Given the description of an element on the screen output the (x, y) to click on. 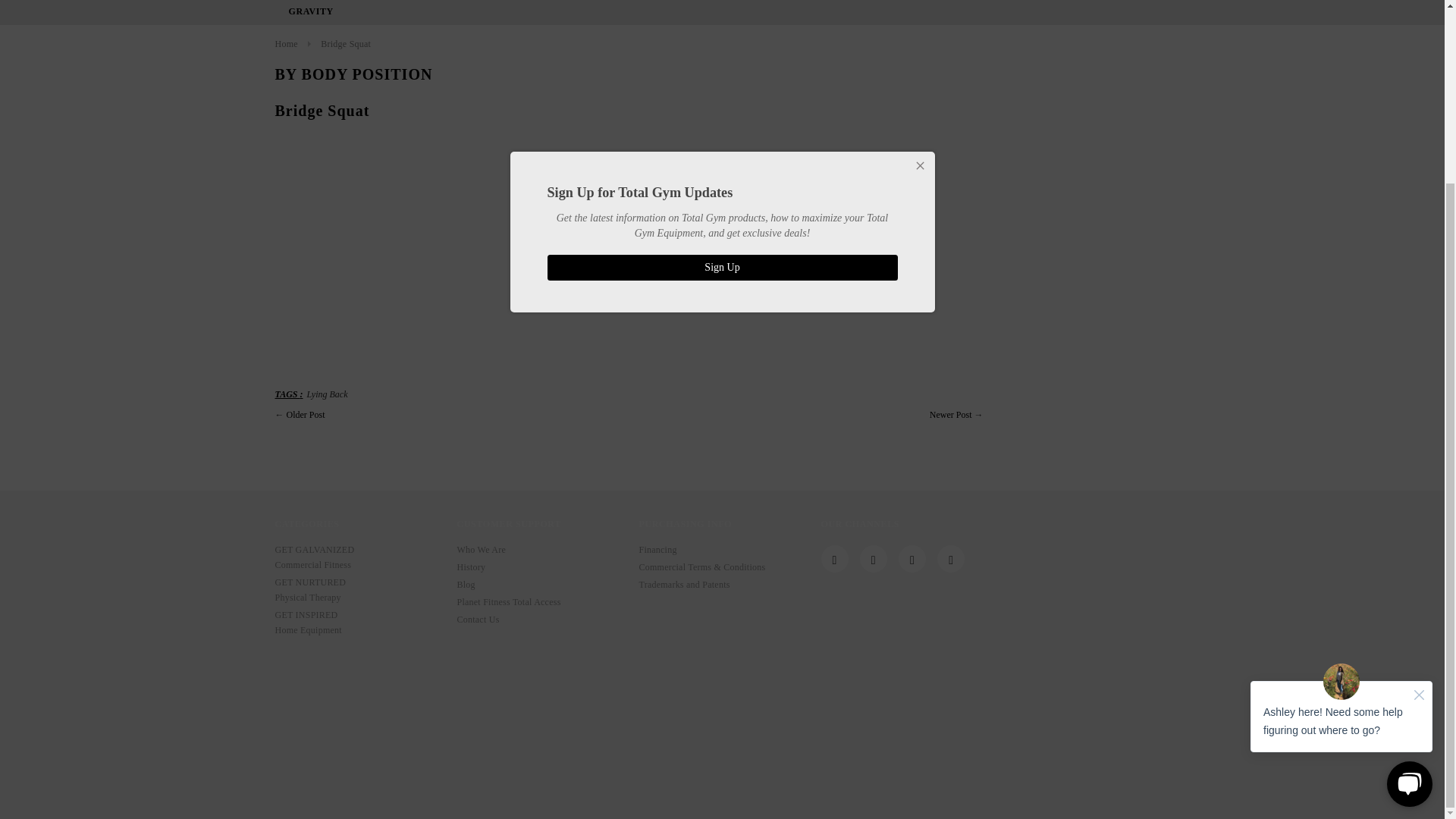
Instagram (873, 561)
Facebook (834, 561)
YouTube (912, 560)
